Given the description of an element on the screen output the (x, y) to click on. 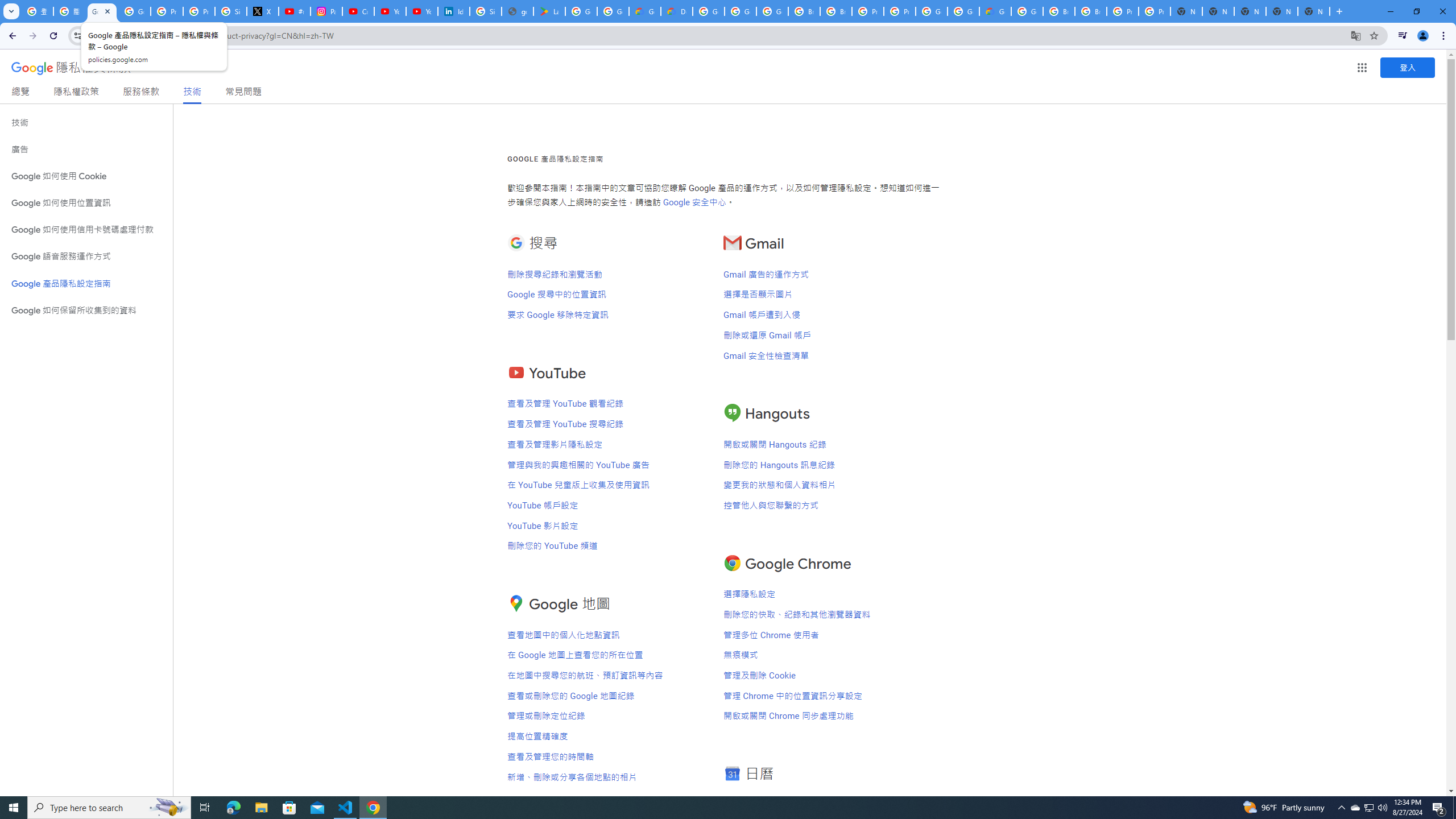
New Tab (1313, 11)
#nbabasketballhighlights - YouTube (294, 11)
Google Cloud Platform (1027, 11)
